Given the description of an element on the screen output the (x, y) to click on. 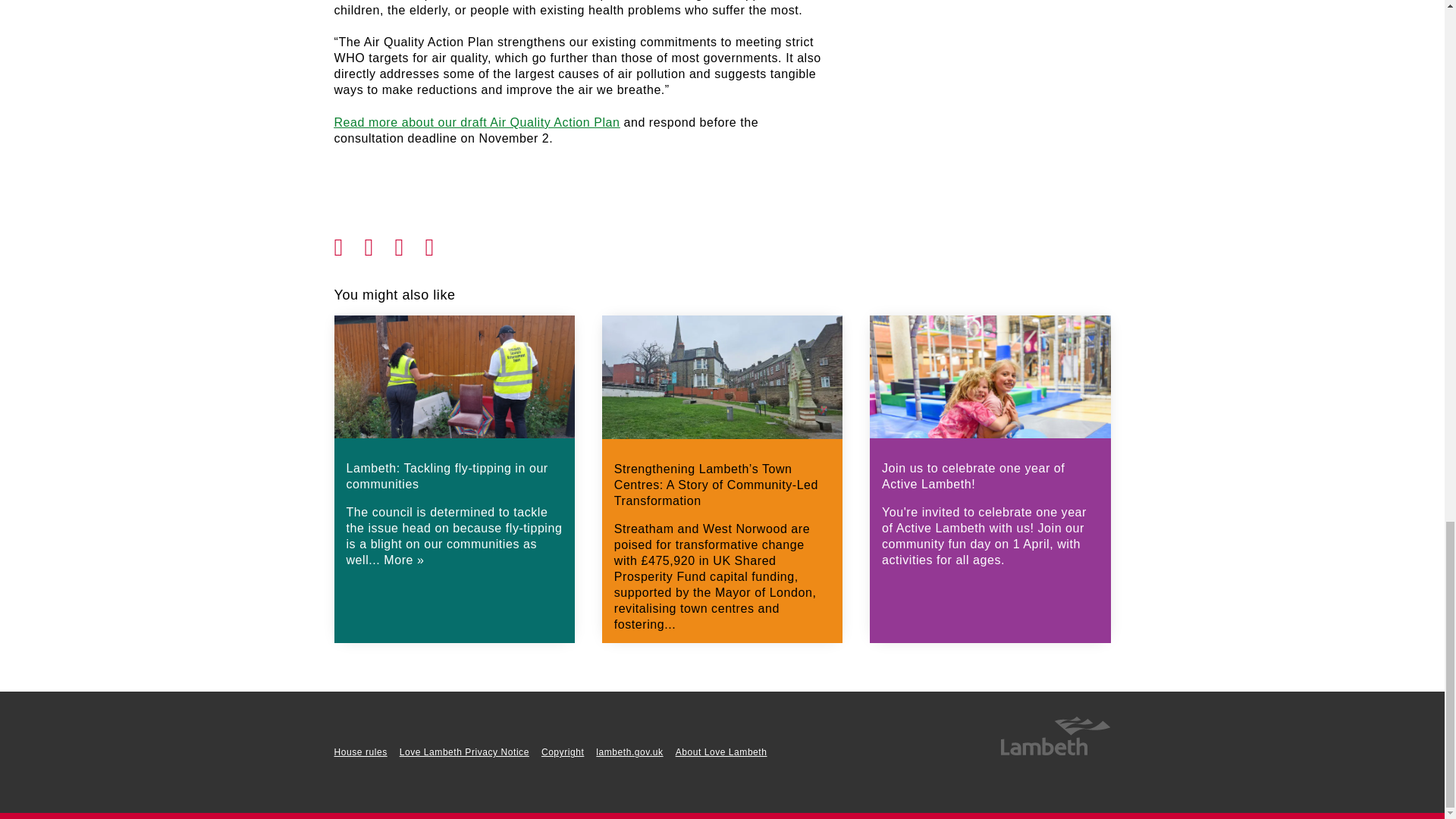
About Love Lambeth (721, 751)
share this on twitter (379, 242)
Copyright (562, 751)
share this on google plus (409, 242)
House rules (360, 751)
share this on Facebook (348, 242)
Read more about our draft Air Quality Action Plan (476, 122)
lambeth.gov.uk (628, 751)
lambeth council's website (1053, 751)
Love Lambeth Privacy Notice (463, 751)
